Given the description of an element on the screen output the (x, y) to click on. 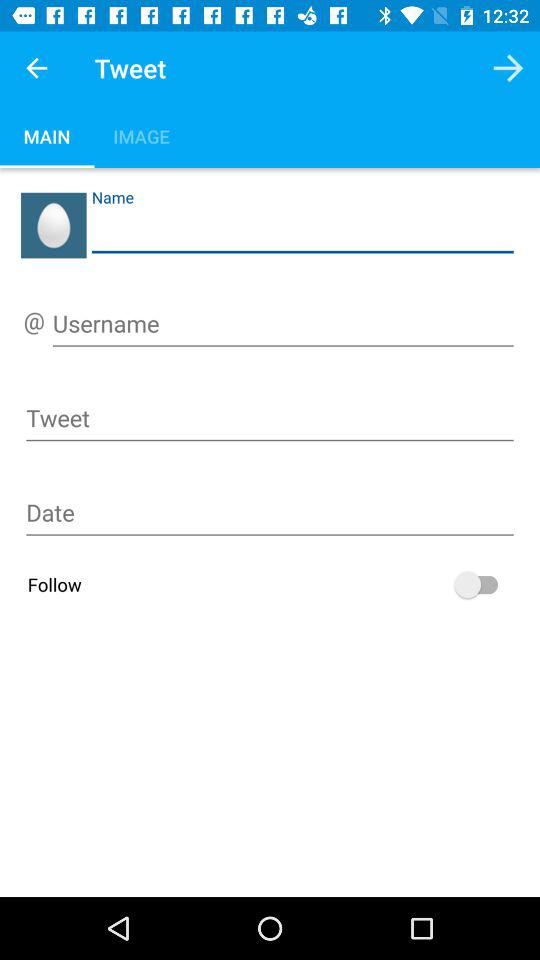
date text bbox (270, 516)
